Given the description of an element on the screen output the (x, y) to click on. 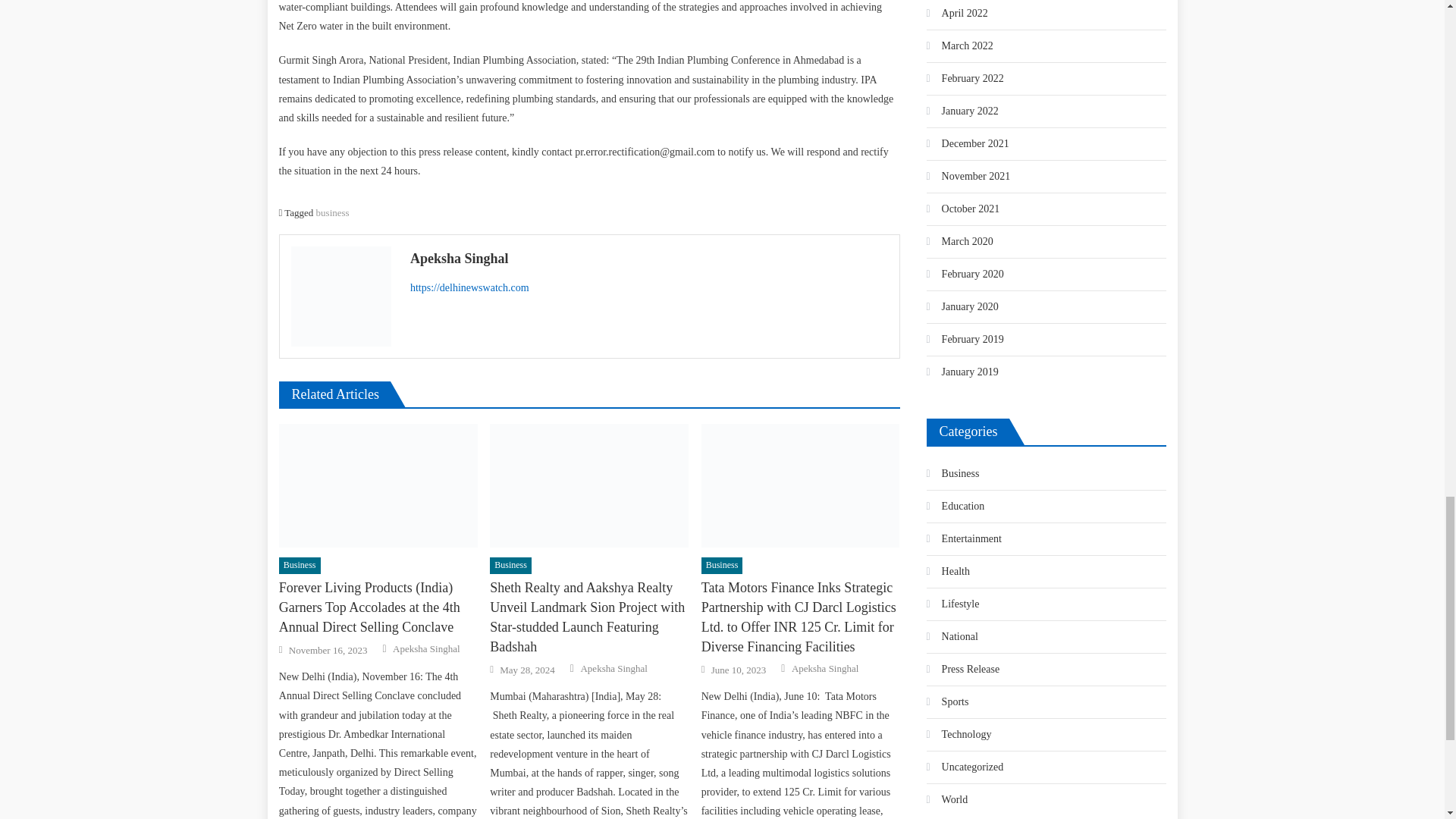
Apeksha Singhal (649, 258)
May 28, 2024 (526, 670)
November 16, 2023 (328, 650)
business (332, 212)
Business (510, 565)
Apeksha Singhal (426, 649)
Business (299, 565)
